Given the description of an element on the screen output the (x, y) to click on. 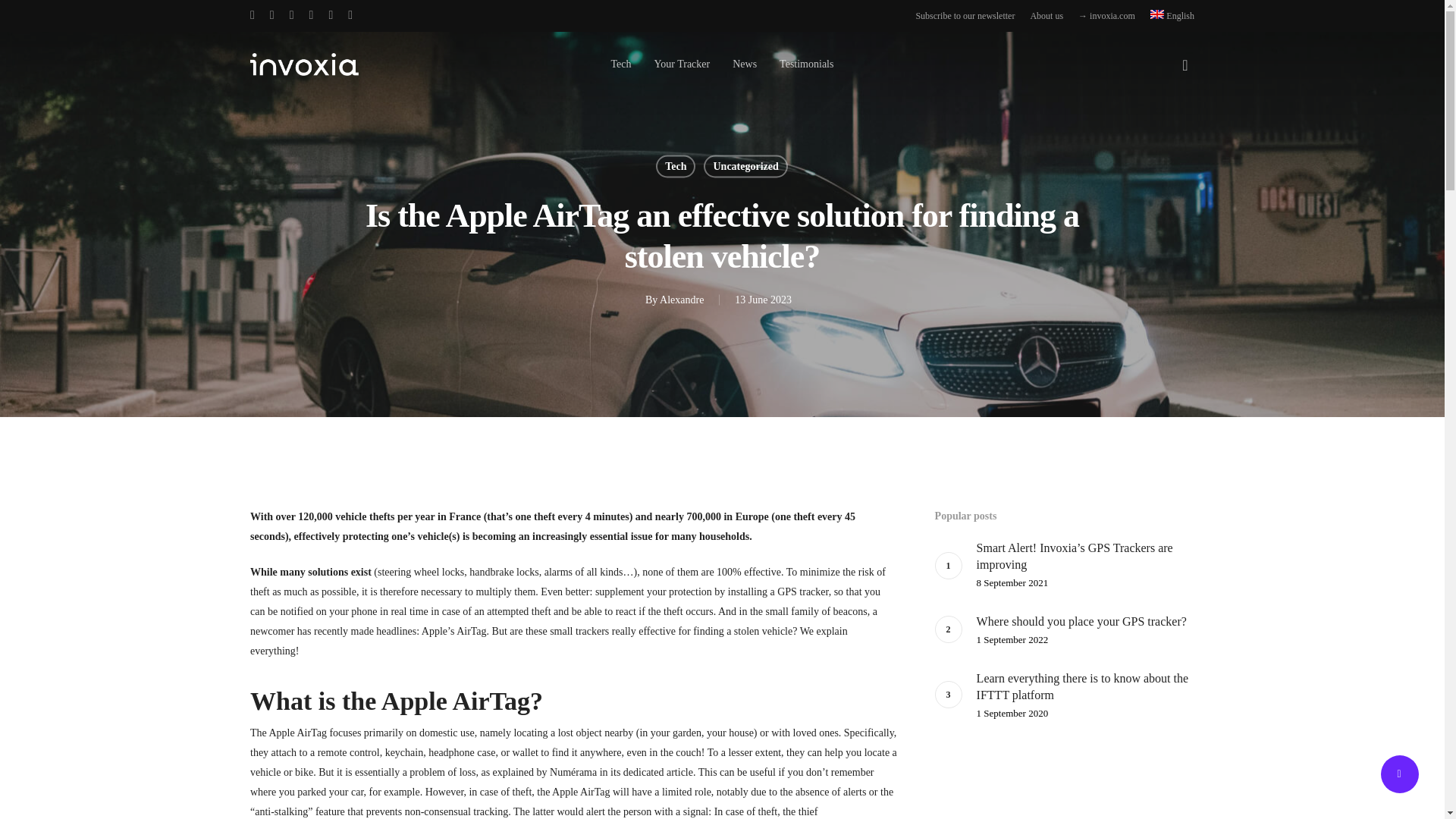
Subscribe to our newsletter (964, 15)
Your Tracker (681, 64)
Posts by Alexandre (681, 299)
English (1171, 15)
Tech (675, 165)
English (1171, 15)
Alexandre (681, 299)
About us (1045, 15)
Tech (621, 64)
Uncategorized (745, 165)
News (744, 64)
Testimonials (805, 64)
